Given the description of an element on the screen output the (x, y) to click on. 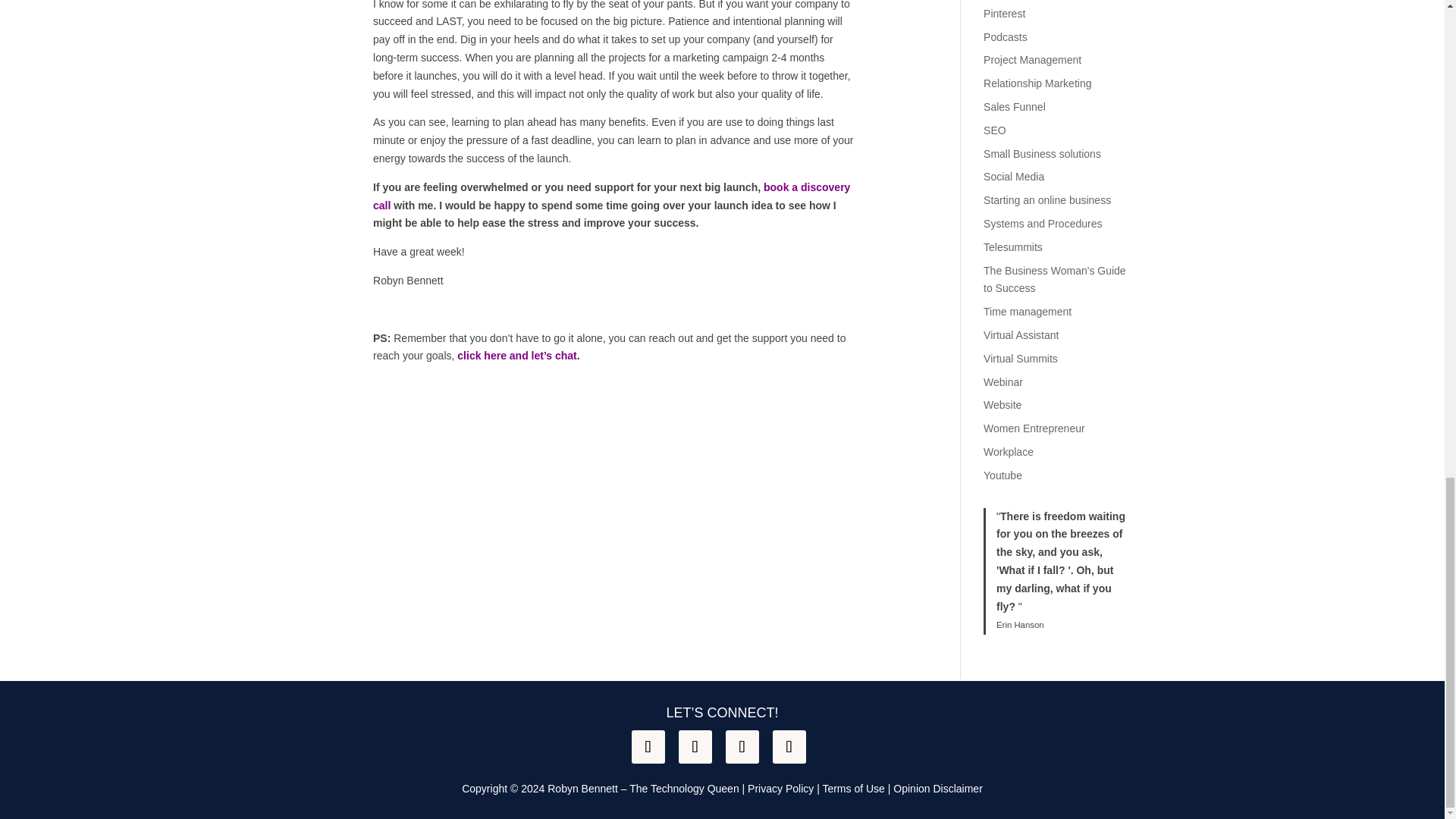
Follow on Facebook (646, 746)
book a discovery call (611, 195)
Follow on Pinterest (788, 746)
Follow on LinkedIn (741, 746)
Follow on Instagram (694, 746)
